Given the description of an element on the screen output the (x, y) to click on. 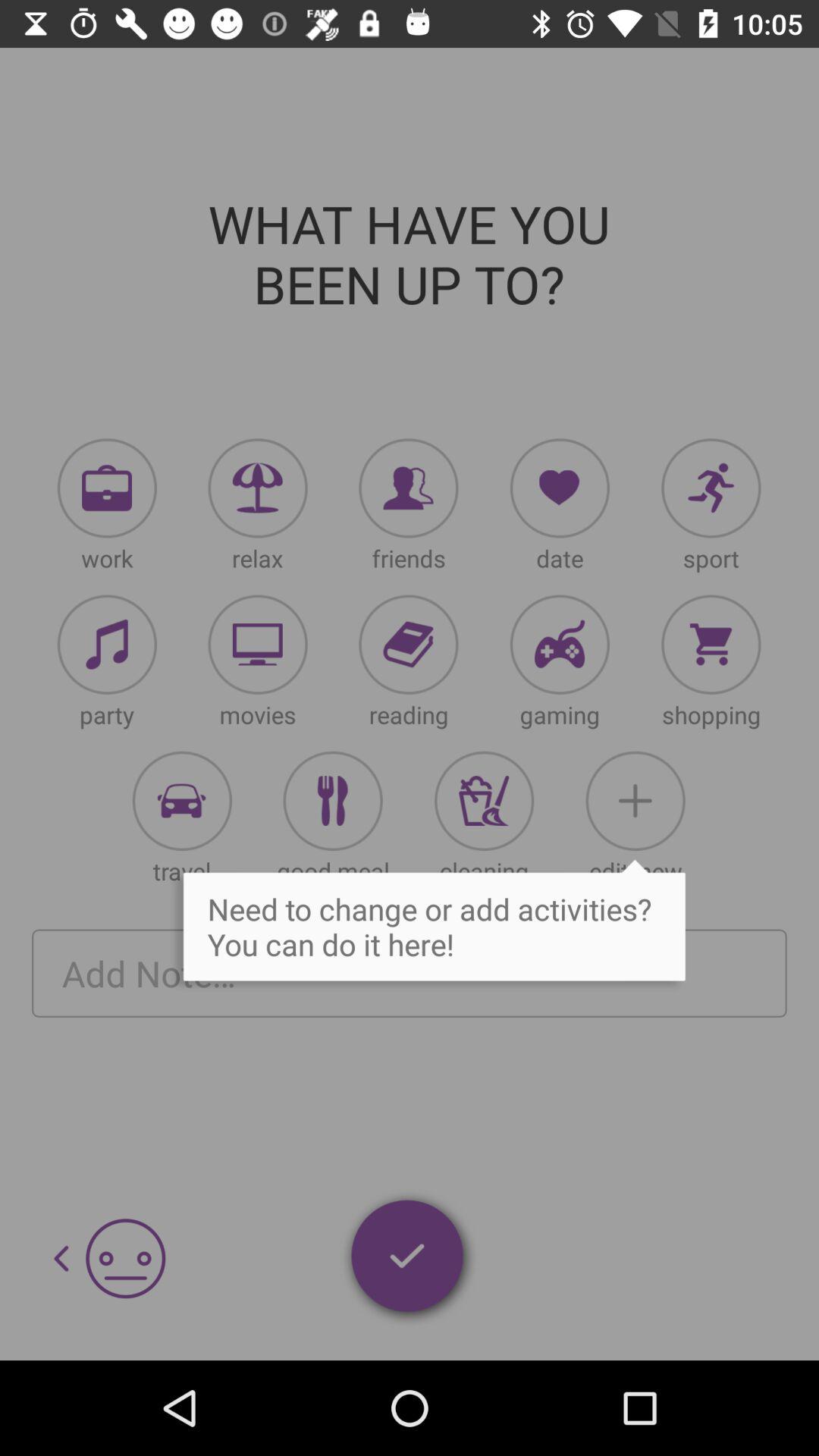
add a date to your journal (559, 488)
